Given the description of an element on the screen output the (x, y) to click on. 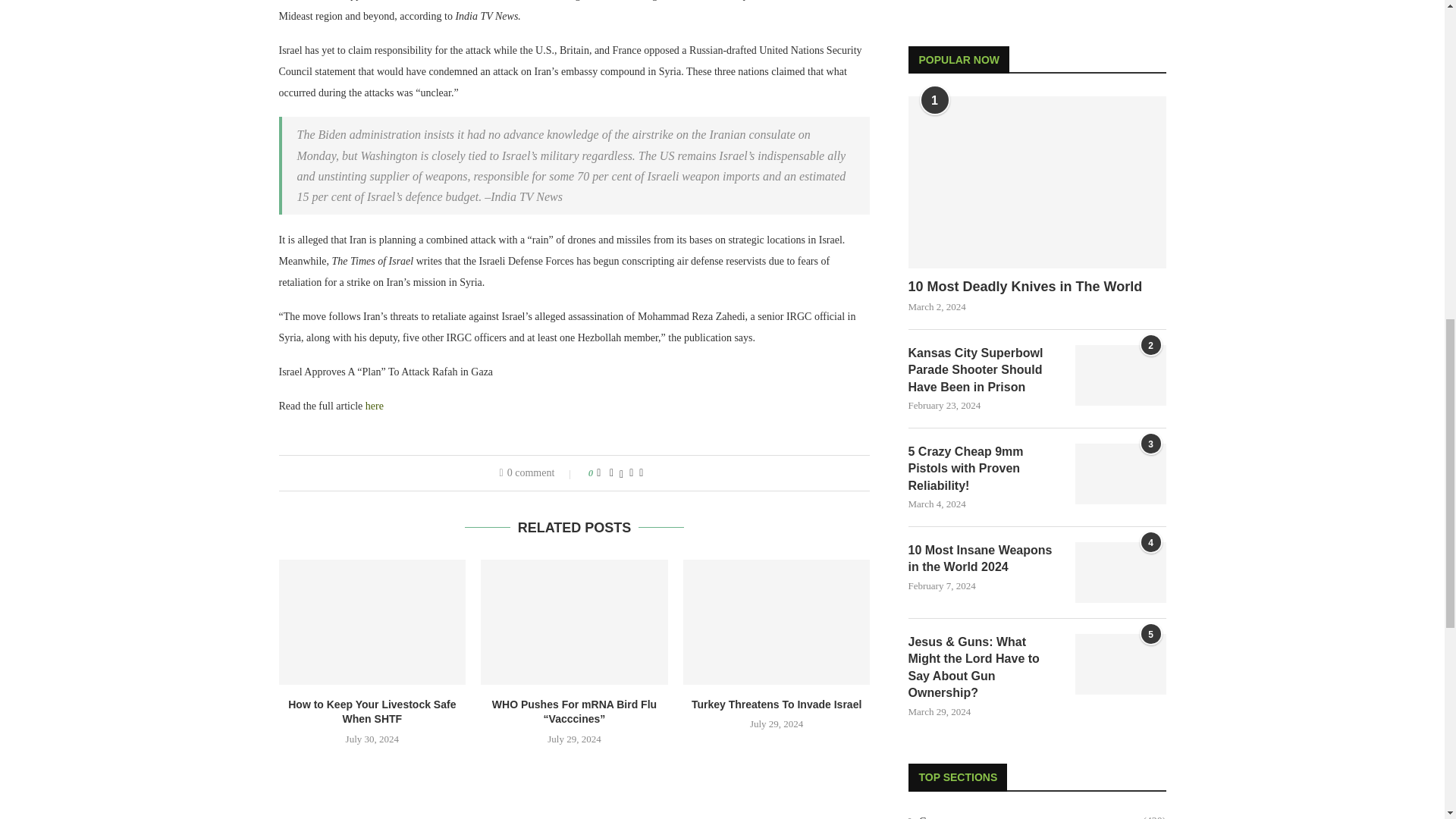
here (374, 405)
Turkey Threatens To Invade Israel (776, 621)
How to Keep Your Livestock Safe When SHTF (371, 711)
How to Keep Your Livestock Safe When SHTF (372, 621)
